Given the description of an element on the screen output the (x, y) to click on. 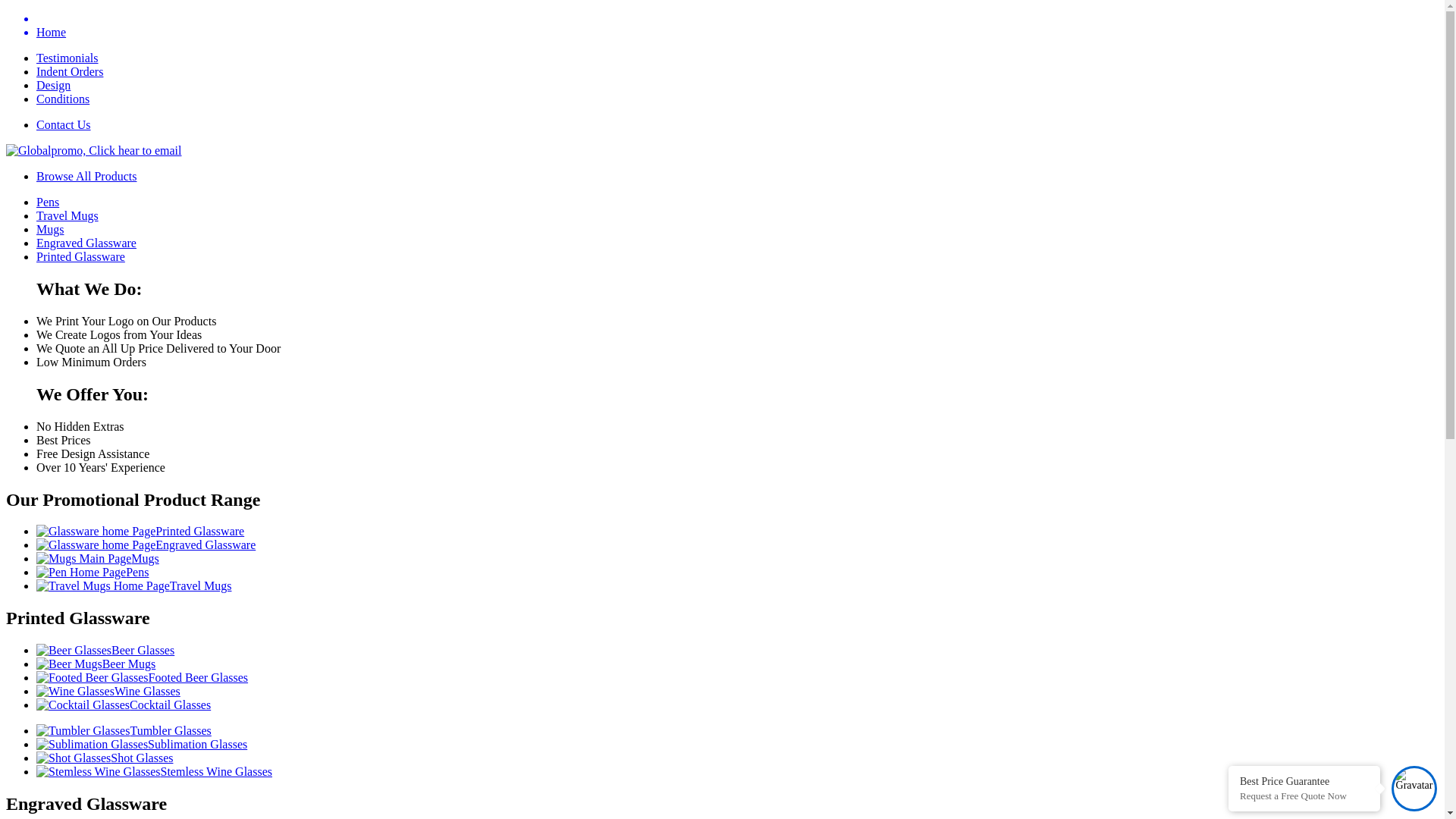
Mugs Element type: text (97, 558)
Cocktail Glasses Element type: text (123, 704)
Testimonials Element type: text (67, 57)
Beer Mugs Element type: text (95, 663)
Tumbler Glasses Element type: text (123, 730)
Shot Glasses Element type: text (104, 757)
Engraved Glassware Element type: text (86, 242)
Printed Glassware Element type: text (80, 256)
Design Element type: text (53, 84)
Stemless Wine Glasses Element type: text (154, 771)
Conditions Element type: text (62, 98)
Pens Element type: text (92, 571)
Sublimation Glasses Element type: text (141, 743)
Travel Mugs Element type: text (133, 585)
Browse All Products Element type: text (86, 175)
Indent Orders Element type: text (69, 71)
Wine Glasses Element type: text (108, 690)
Mugs Main Page Element type: hover (83, 558)
Home Element type: text (737, 25)
Beer Glasses Element type: text (105, 649)
Printed Glassware Element type: text (140, 530)
Travel Mugs Element type: text (67, 215)
Engraved Glassware Element type: text (145, 544)
Pens Element type: text (47, 201)
Contact Us Element type: text (63, 124)
Footed Beer Glasses Element type: text (141, 677)
Mugs Element type: text (49, 228)
